Given the description of an element on the screen output the (x, y) to click on. 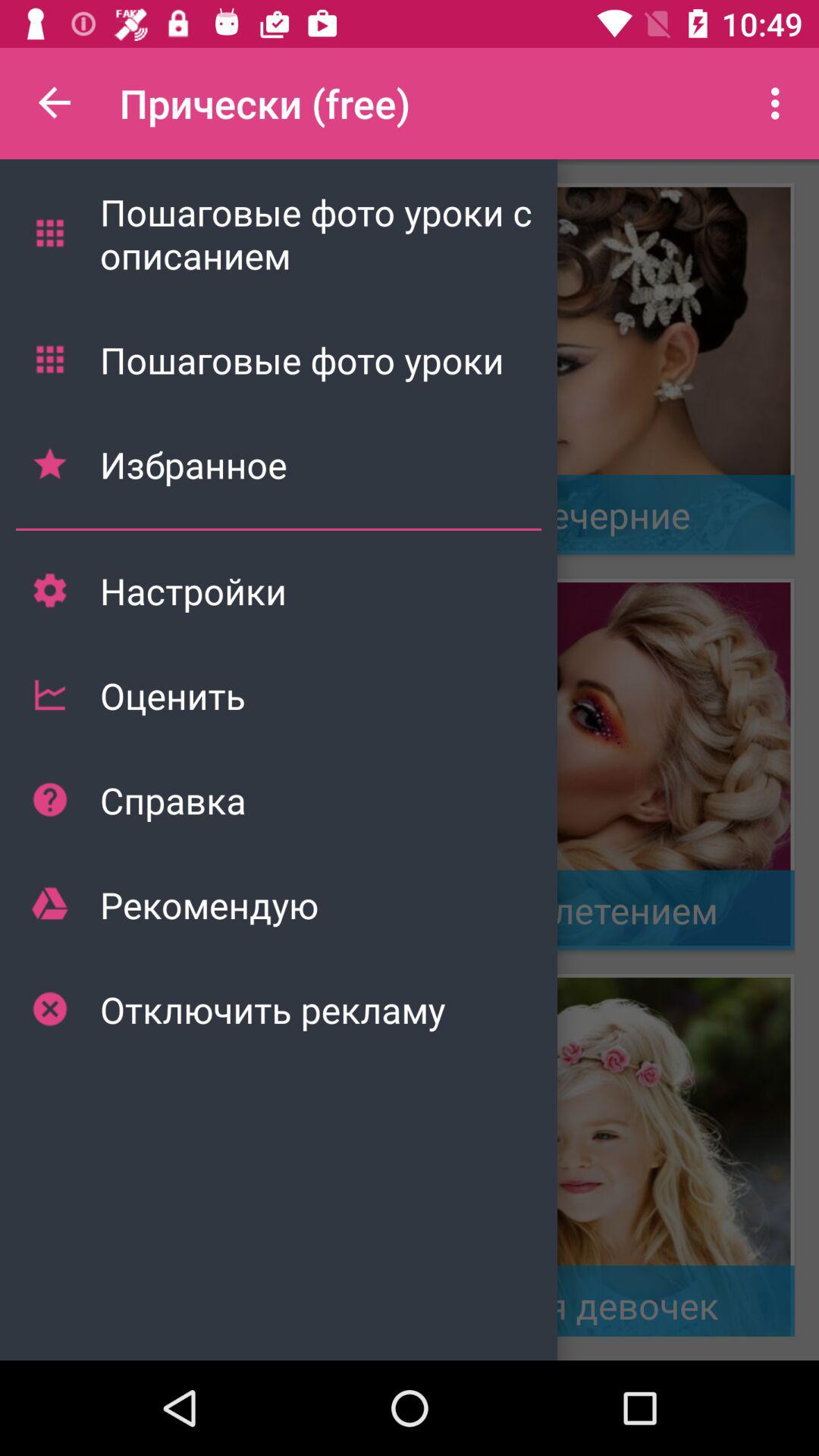
click on the second image (608, 763)
click on last but one icon (49, 903)
